Given the description of an element on the screen output the (x, y) to click on. 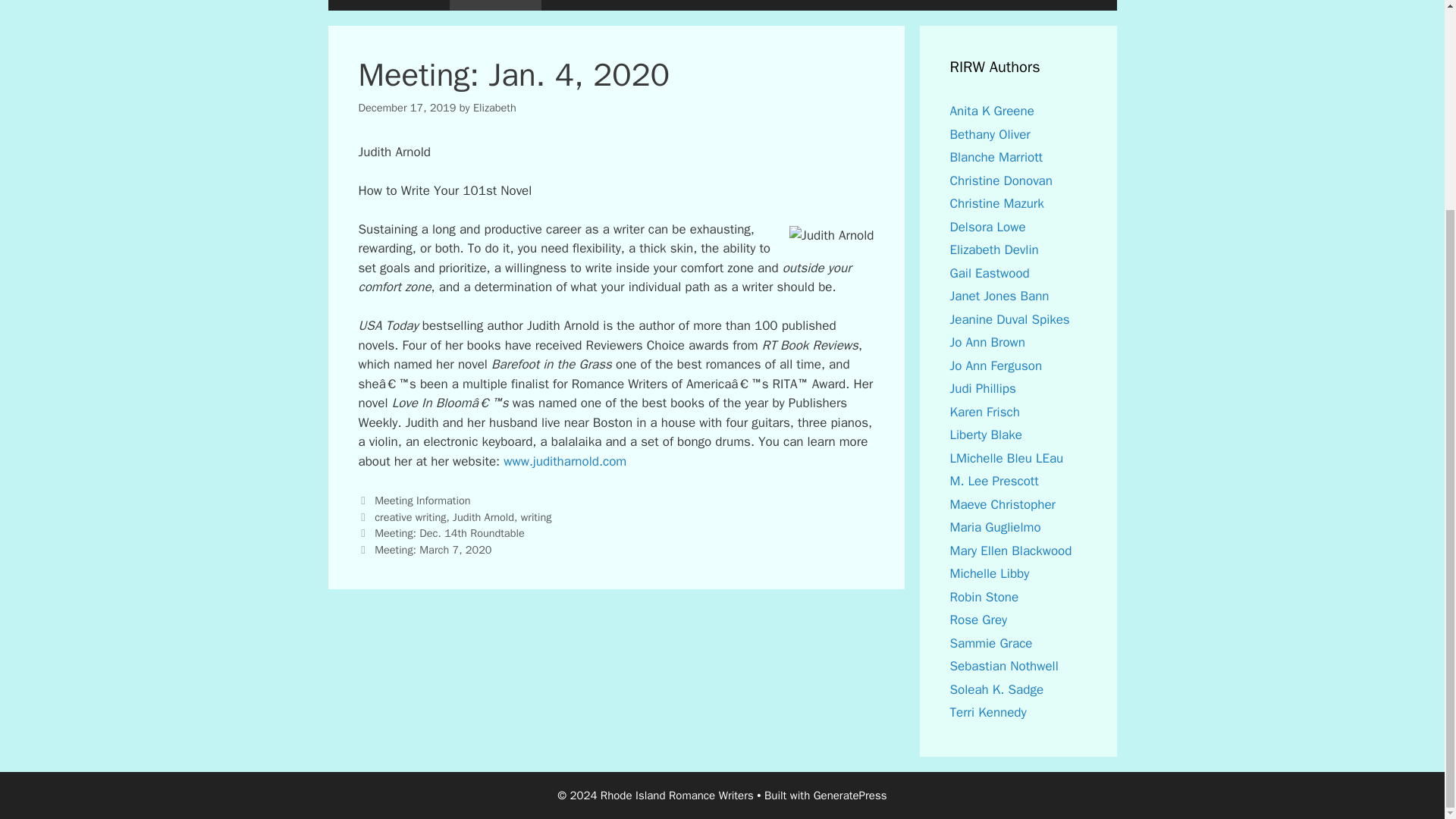
Christine Donovan (1000, 180)
Meeting Info (495, 5)
Jo Ann Ferguson (995, 365)
Jo Ann Brown (987, 342)
Gail Eastwood (989, 273)
LMichelle Bleu LEau (1005, 458)
Meeting: Dec. 14th Roundtable (449, 532)
Janet Jones Bann (998, 295)
M. Lee Prescott (993, 480)
Meeting Information (422, 499)
Meeting: March 7, 2020 (433, 549)
Liberty Blake (985, 434)
Elizabeth Devlin (993, 249)
Jeanine Duval Spikes (1008, 319)
Join RIRW (581, 5)
